Given the description of an element on the screen output the (x, y) to click on. 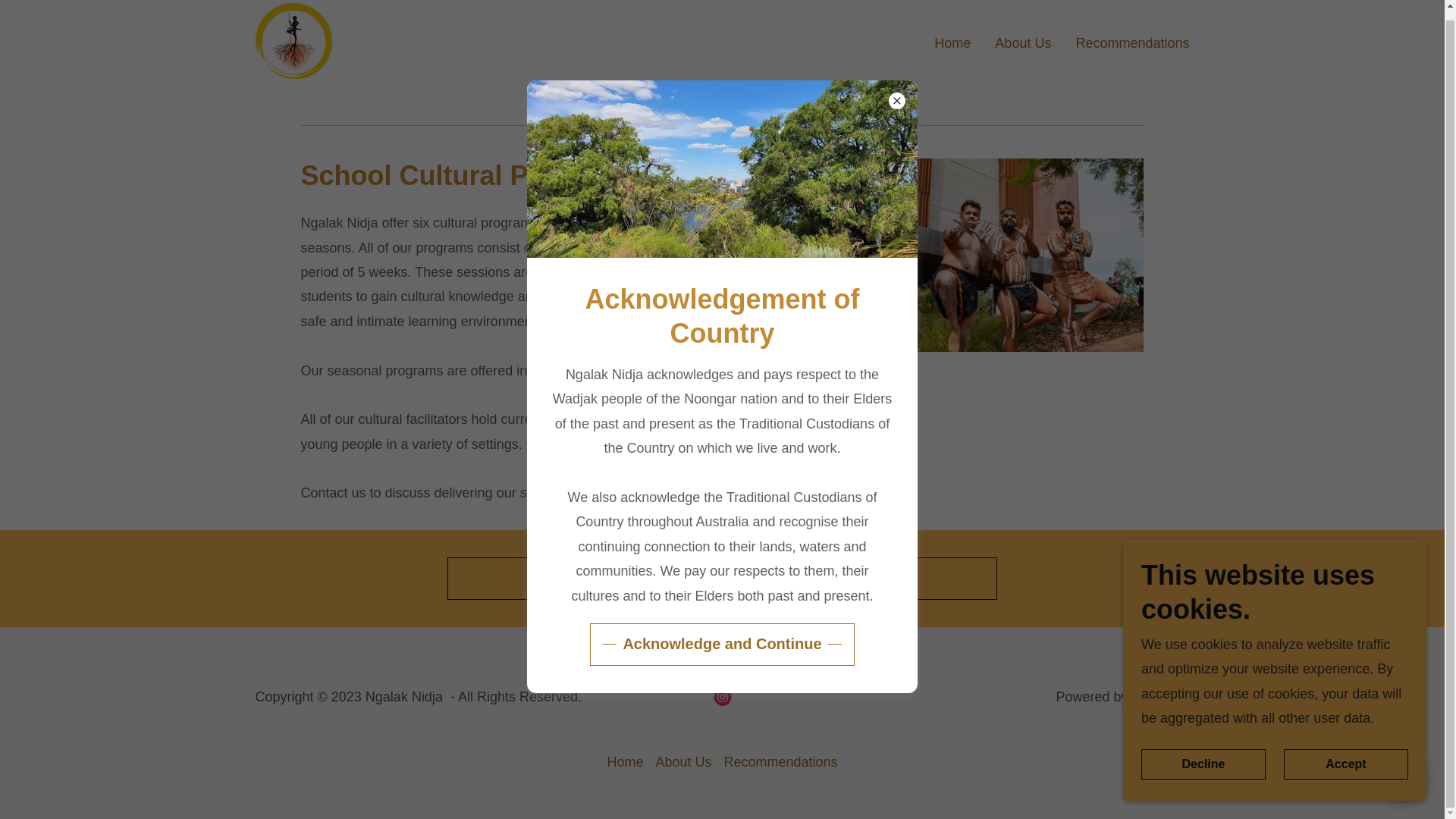
Home (624, 762)
Accept (1345, 755)
About Us (1022, 41)
Acknowledge and Continue (721, 635)
GoDaddy (1160, 696)
Recommendations (1131, 41)
Decline (1203, 755)
Home (952, 41)
About Us (683, 762)
Return Home (721, 578)
Recommendations (780, 762)
